Given the description of an element on the screen output the (x, y) to click on. 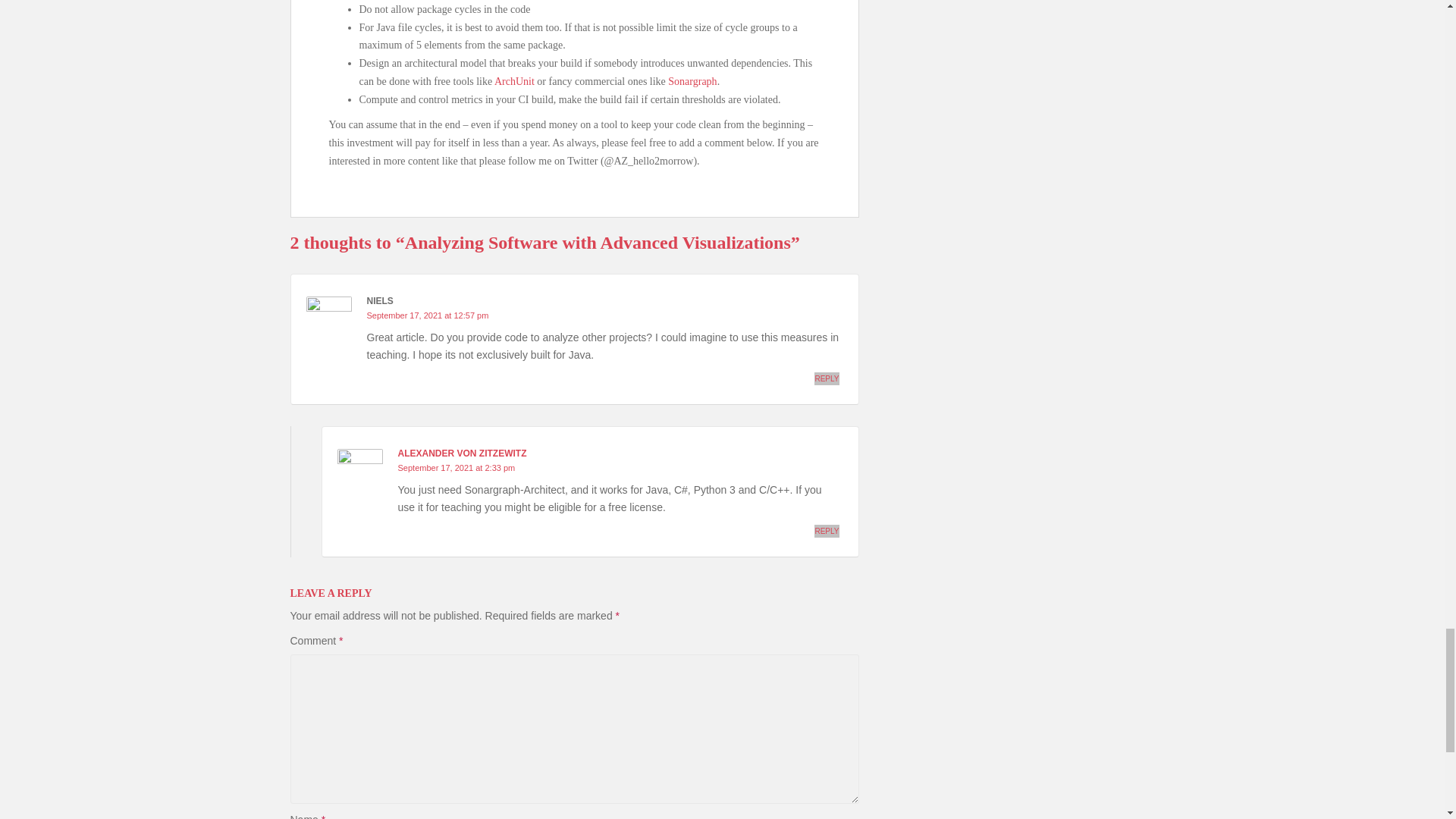
REPLY (825, 530)
September 17, 2021 at 12:57 pm (427, 315)
ALEXANDER VON ZITZEWITZ (461, 452)
Sonargraph (692, 81)
ArchUnit (514, 81)
September 17, 2021 at 2:33 pm (456, 467)
REPLY (825, 378)
